Given the description of an element on the screen output the (x, y) to click on. 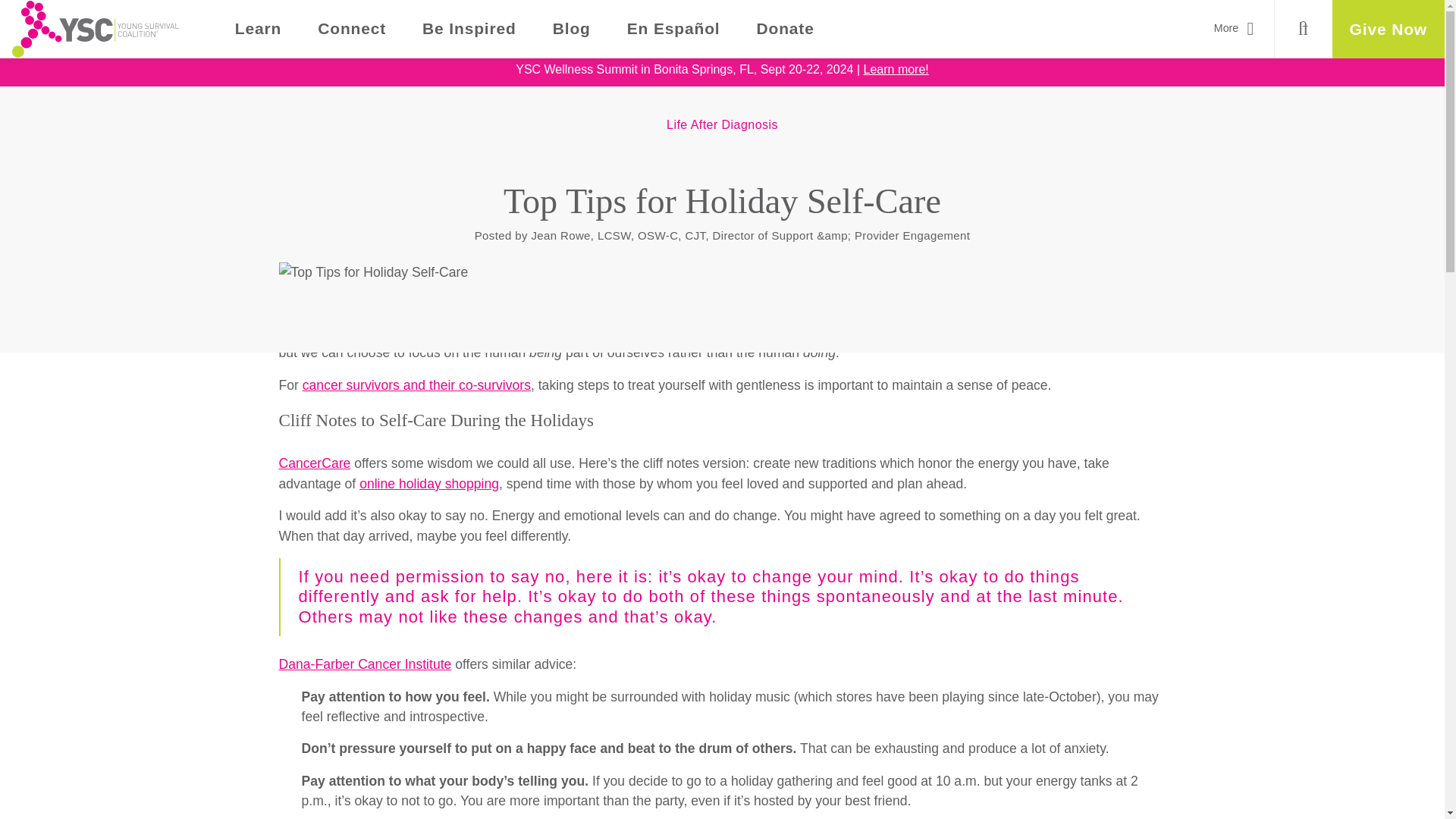
Life After Diagnosis (721, 124)
Connect (351, 28)
Search (1303, 29)
Learn (257, 28)
